Given the description of an element on the screen output the (x, y) to click on. 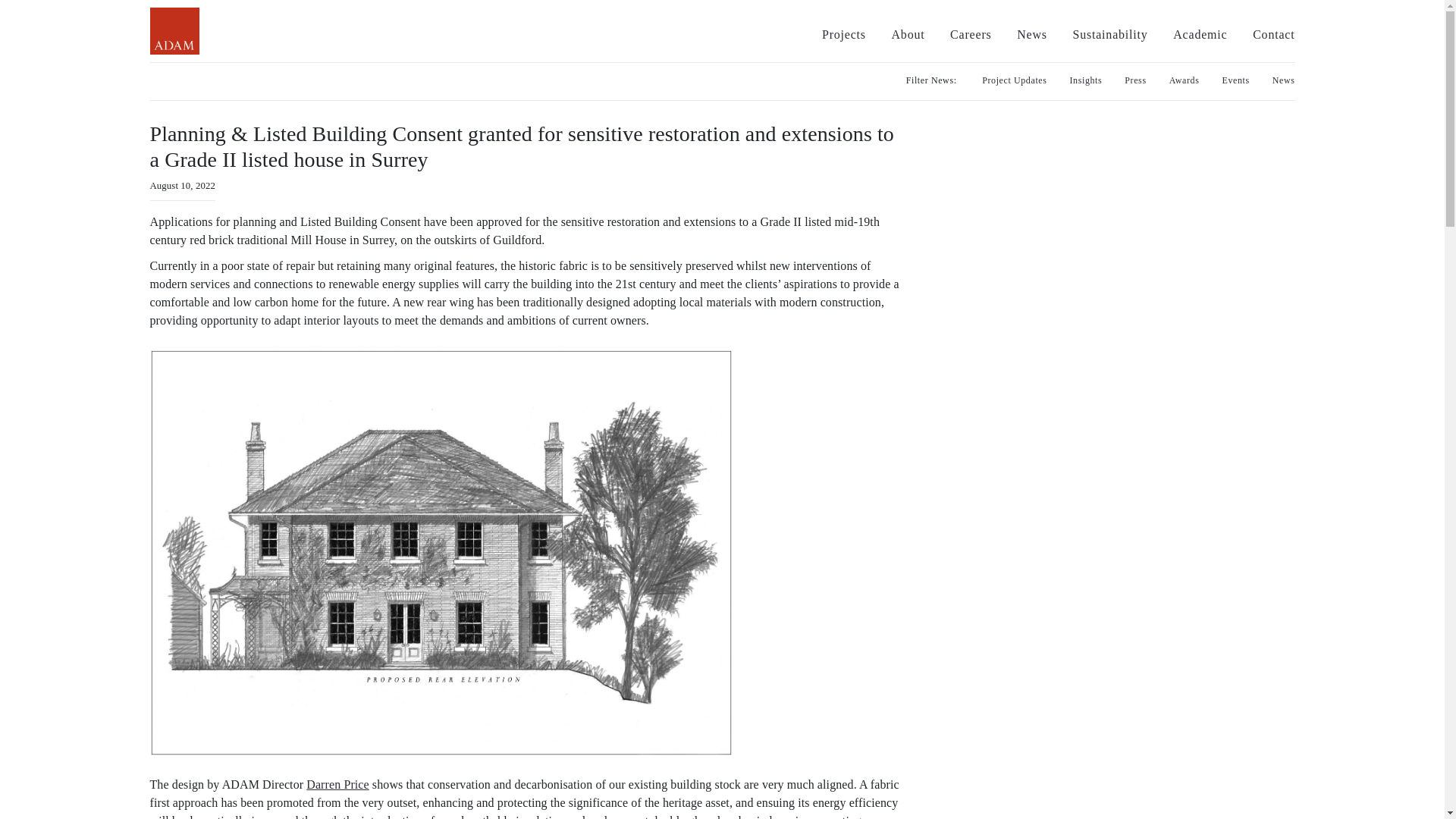
Insights (1086, 80)
Events (1236, 80)
View all post filed under News (1283, 80)
Academic (1200, 33)
View all post filed under Project Updates (1013, 80)
Projects (844, 33)
View all post filed under Insights (1086, 80)
View all post filed under Awards (1184, 80)
Press (1134, 80)
Careers (970, 33)
Project Updates (1013, 80)
News (1283, 80)
Darren Price (337, 784)
Contact (1273, 33)
About (907, 33)
